Given the description of an element on the screen output the (x, y) to click on. 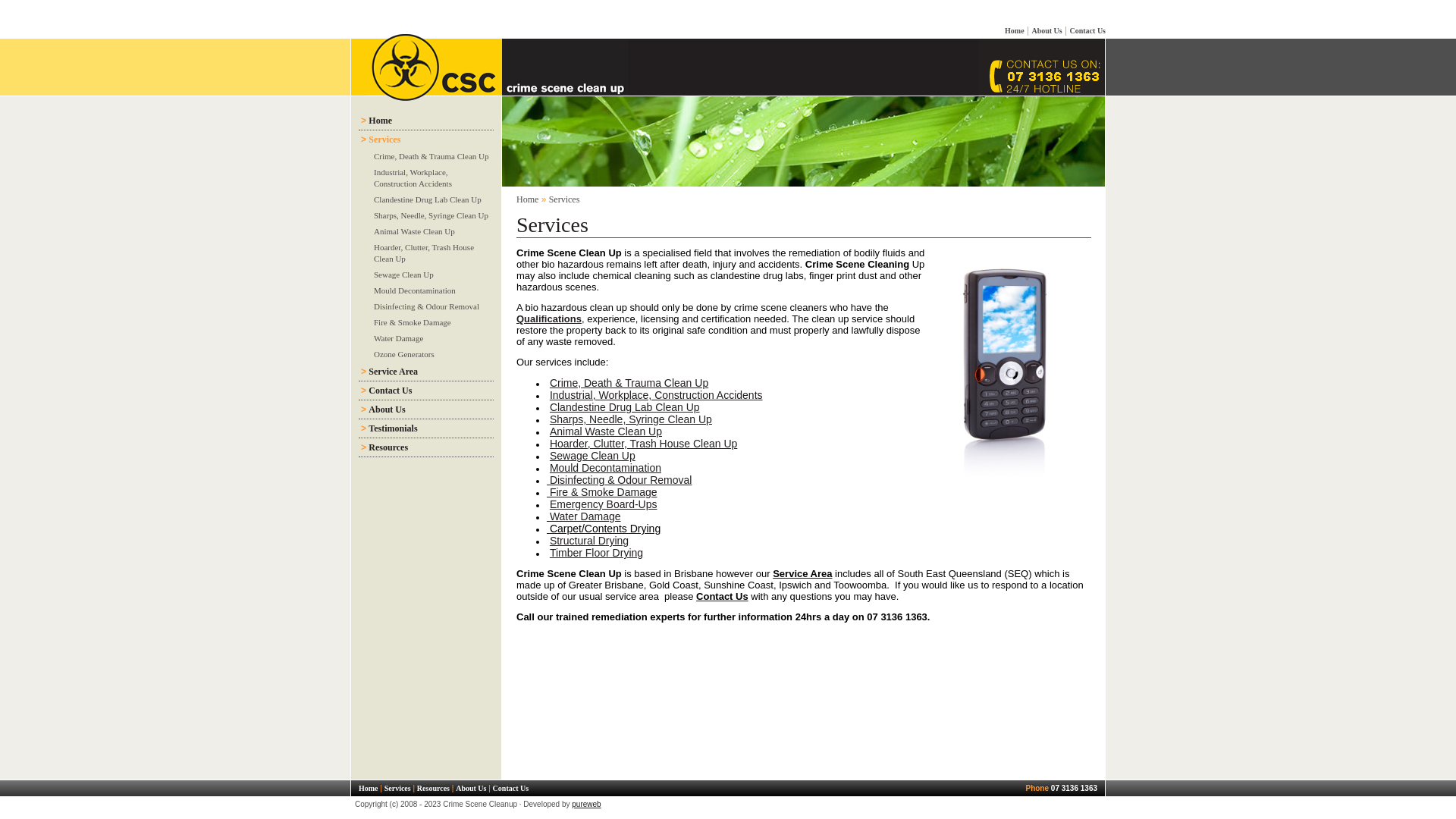
Resources Element type: text (433, 788)
Structural Drying Element type: text (588, 540)
Sharps, Needle, Syringe Clean Up Element type: text (430, 214)
Animal Waste Clean Up Element type: text (414, 230)
Disinfecting & Odour Removal Element type: text (426, 305)
About Us Element type: text (470, 788)
Service Area Element type: text (801, 573)
Qualifications Element type: text (548, 318)
Crime, Death & Trauma Clean Up Element type: text (431, 155)
About Us Element type: text (1046, 30)
Contact Us Element type: text (510, 788)
Industrial, Workplace, Construction Accidents Element type: text (655, 395)
Emergency Board-Ups Element type: text (603, 504)
About Us Element type: text (386, 409)
Fire & Smoke Damage Element type: text (412, 321)
Animal Waste Clean Up Element type: text (605, 431)
Service Area Element type: text (392, 371)
 Fire & Smoke Damage Element type: text (601, 492)
Contact Us Element type: text (1087, 30)
Water Damage Element type: text (398, 337)
Industrial, Workplace, Construction Accidents Element type: text (412, 177)
Timber Floor Drying Element type: text (596, 552)
Sewage Clean Up Element type: text (403, 274)
Crime, Death & Trauma Clean Up Element type: text (628, 382)
Clandestine Drug Lab Clean Up Element type: text (427, 198)
 Water Damage Element type: text (583, 516)
Services Element type: text (397, 788)
Contact Us Element type: text (389, 390)
Services Element type: text (384, 139)
Services Element type: text (564, 199)
Home Element type: text (380, 120)
Mould Decontamination Element type: text (414, 289)
pureweb Element type: text (585, 804)
Home Element type: text (368, 788)
Sewage Clean Up Element type: text (592, 455)
Hoarder, Clutter, Trash House Clean Up Element type: text (423, 252)
Ozone Generators Element type: text (403, 353)
Clandestine Drug Lab Clean Up Element type: text (624, 407)
Hoarder, Clutter, Trash House Clean Up Element type: text (643, 443)
Home Element type: text (1014, 30)
 Carpet/Contents Drying Element type: text (603, 528)
Testimonials Element type: text (392, 428)
Home Element type: text (527, 199)
Contact Us Element type: text (722, 596)
 Disinfecting & Odour Removal Element type: text (618, 479)
Resources Element type: text (387, 447)
Sharps, Needle, Syringe Clean Up Element type: text (630, 419)
Mould Decontamination Element type: text (605, 467)
